Given the description of an element on the screen output the (x, y) to click on. 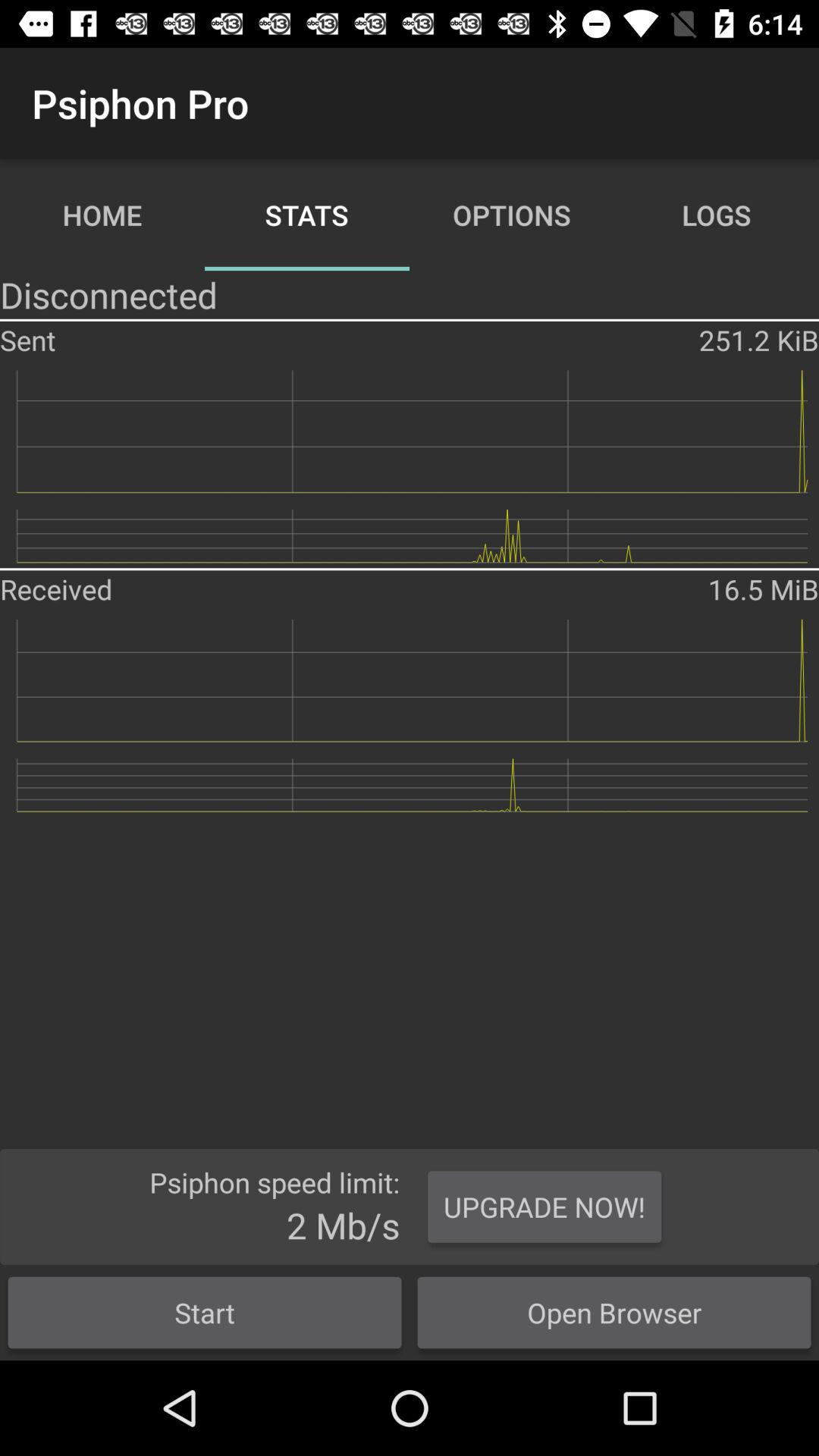
open button at the bottom left corner (204, 1312)
